Given the description of an element on the screen output the (x, y) to click on. 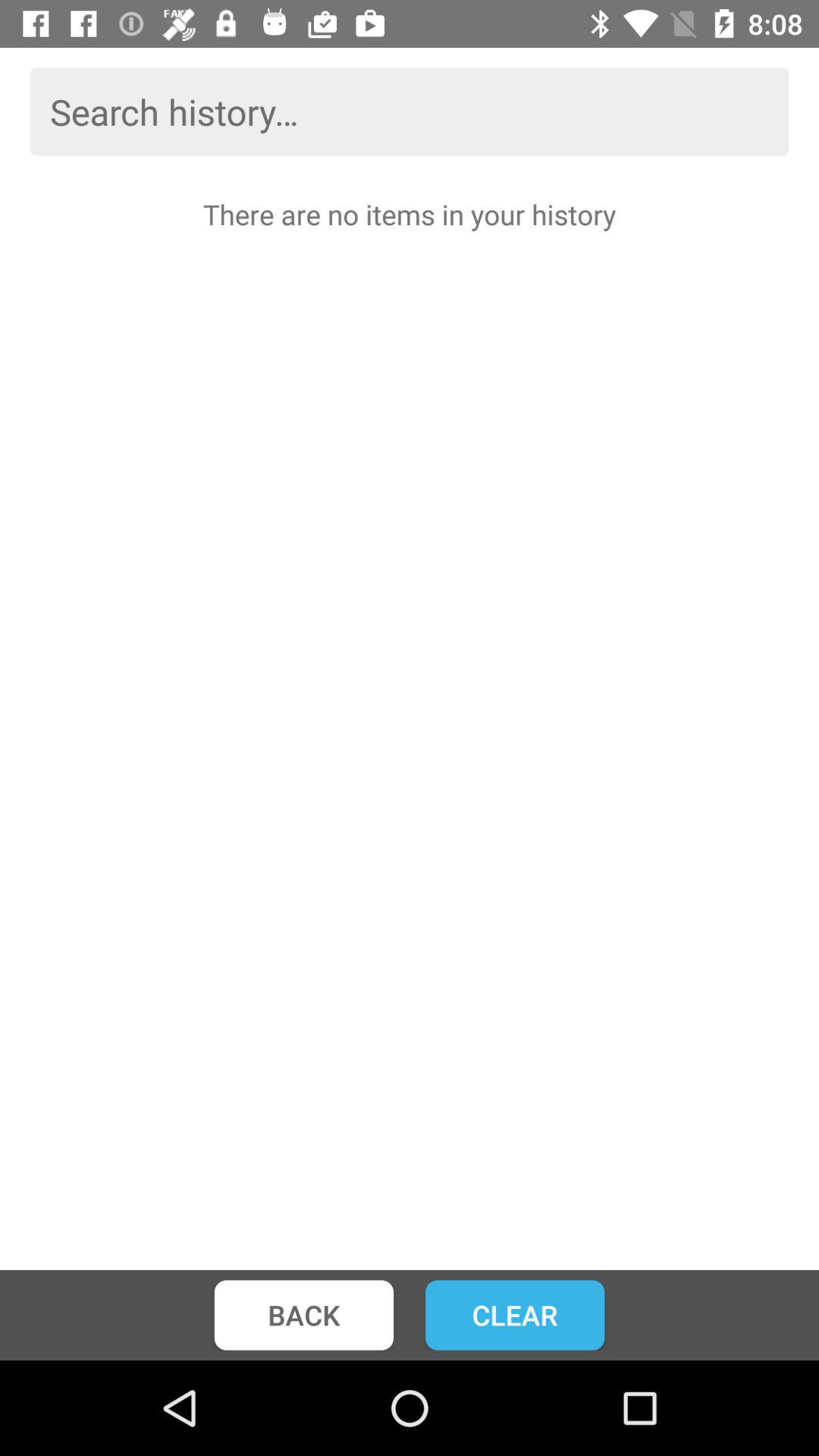
click icon below the there are no (514, 1315)
